Given the description of an element on the screen output the (x, y) to click on. 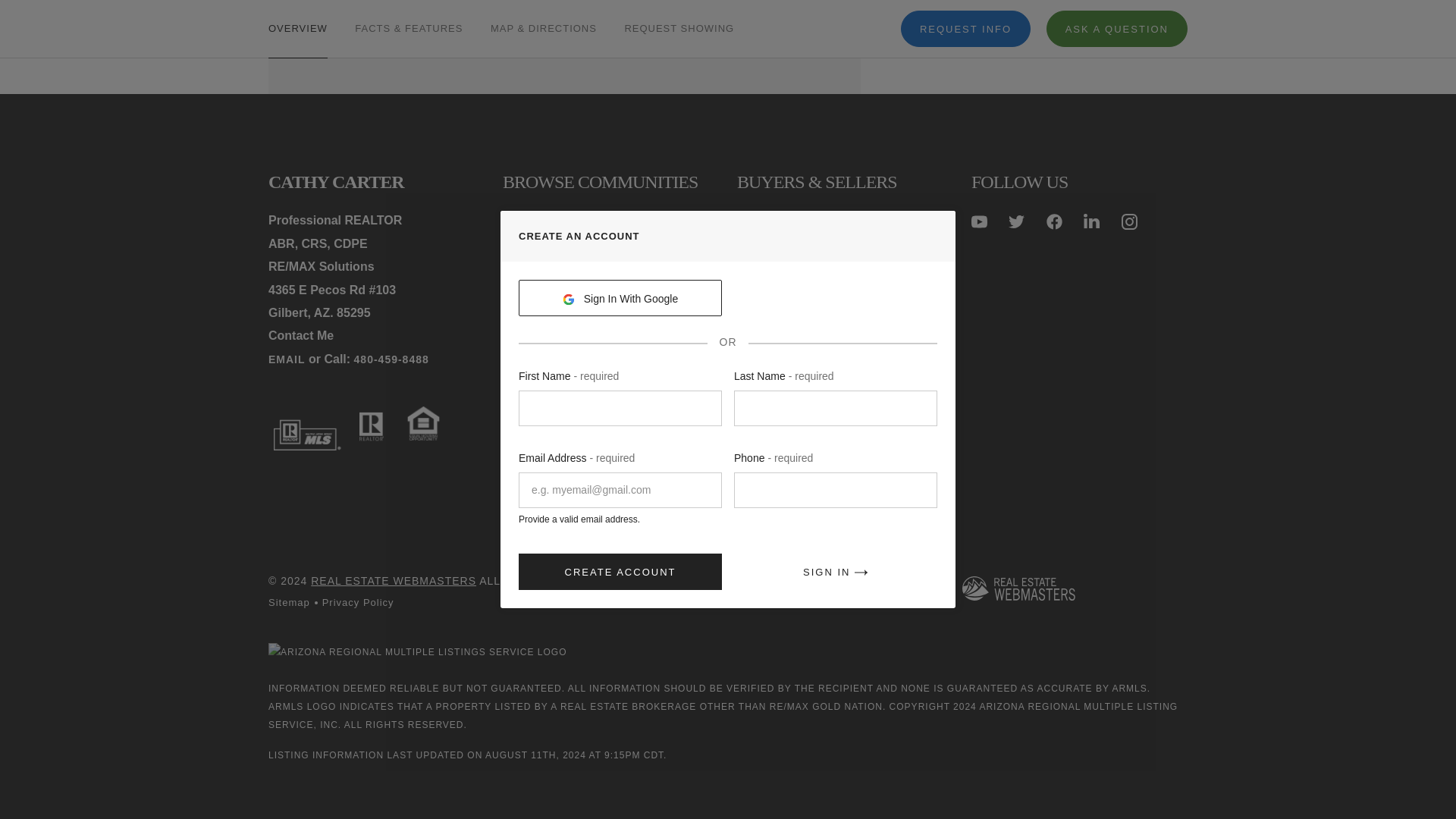
LINKEDIN (1091, 221)
FACEBOOK (1054, 221)
YOUTUBE (979, 221)
TWITTER (1017, 221)
